Given the description of an element on the screen output the (x, y) to click on. 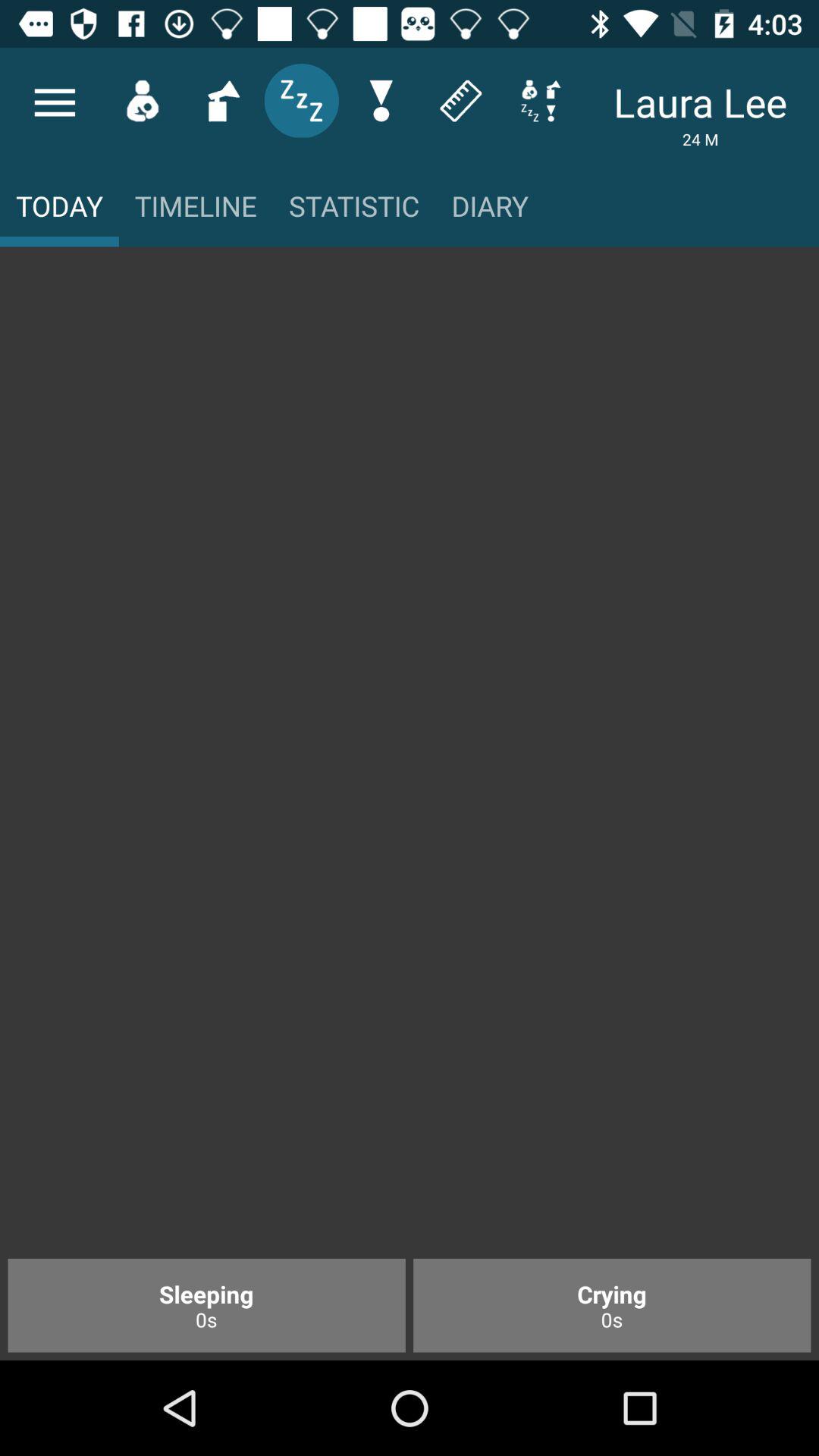
select the sleeping
0s (206, 1305)
